Given the description of an element on the screen output the (x, y) to click on. 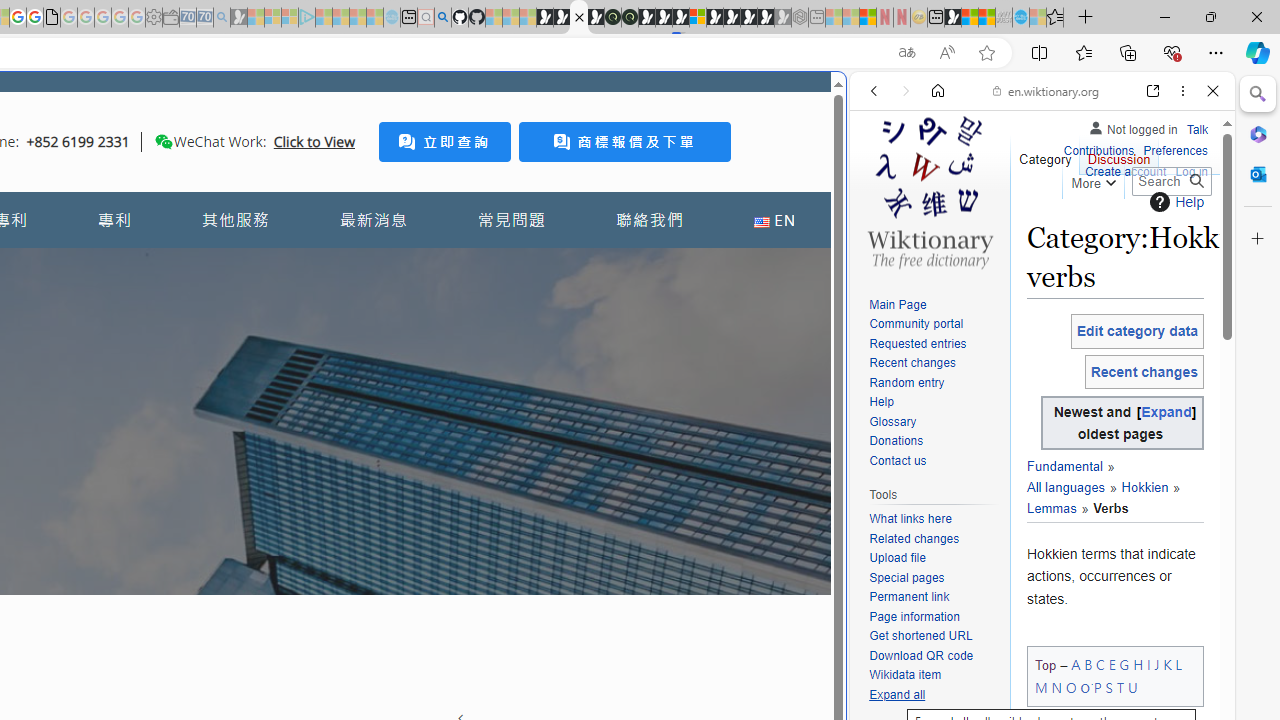
All languages (1065, 488)
